Given the description of an element on the screen output the (x, y) to click on. 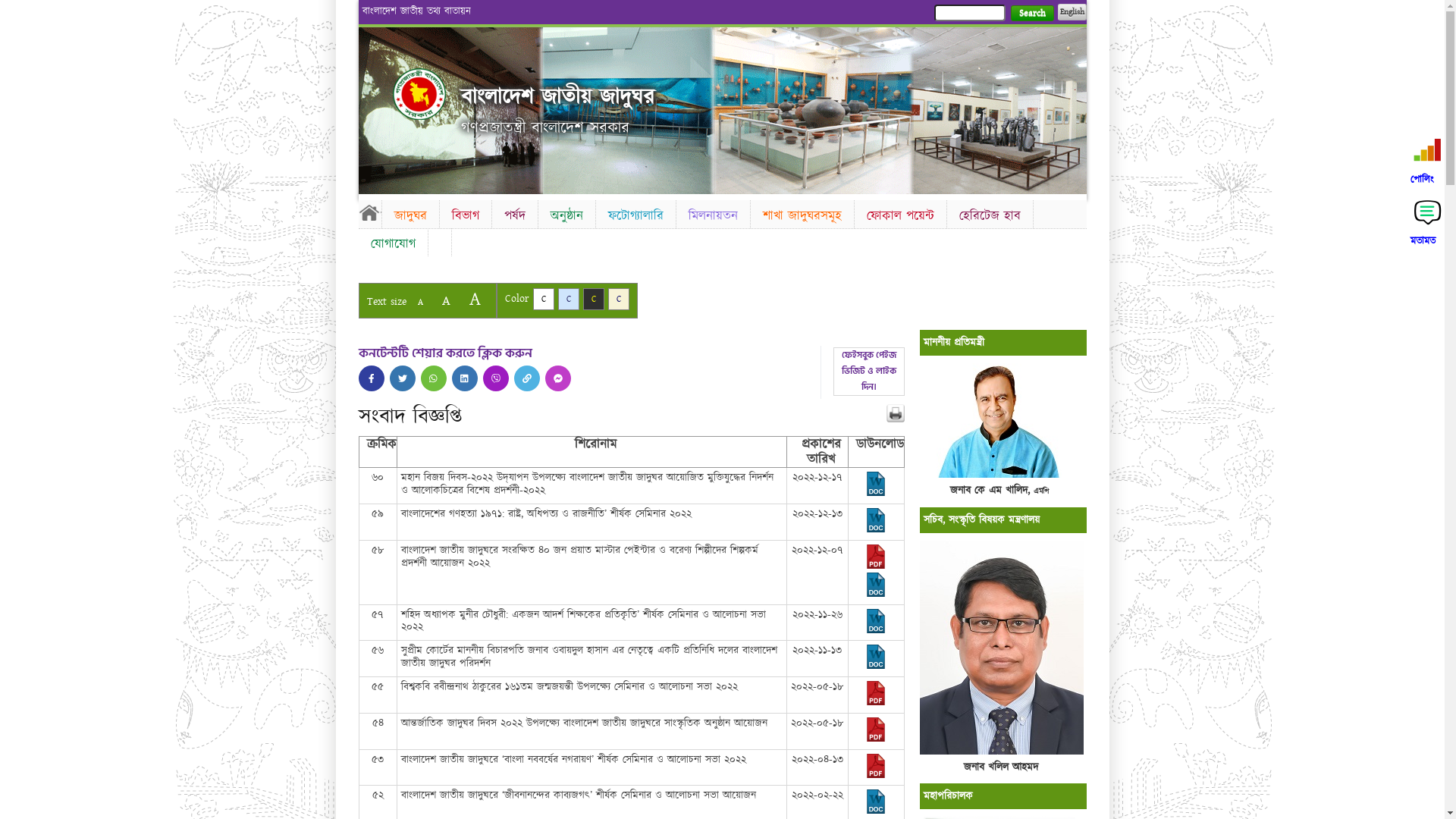
A Element type: text (419, 301)
Home Element type: hover (368, 211)
Search Element type: text (1031, 13)
C Element type: text (568, 299)
C Element type: text (592, 299)
Home Element type: hover (418, 93)
A Element type: text (445, 300)
C Element type: text (542, 299)
A Element type: text (474, 298)
C Element type: text (618, 299)
English Element type: text (1071, 11)
